Given the description of an element on the screen output the (x, y) to click on. 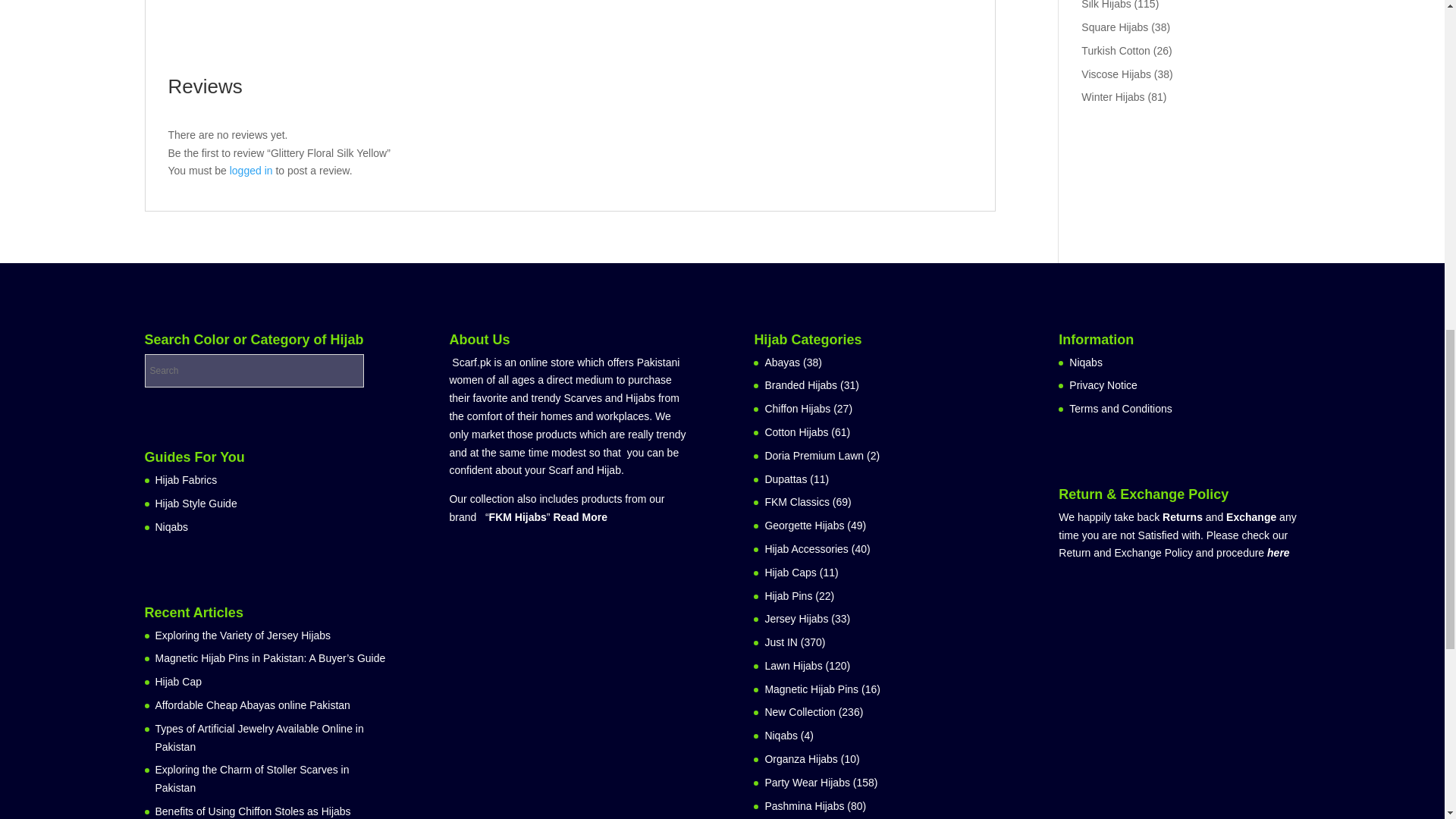
logged in (251, 170)
